Given the description of an element on the screen output the (x, y) to click on. 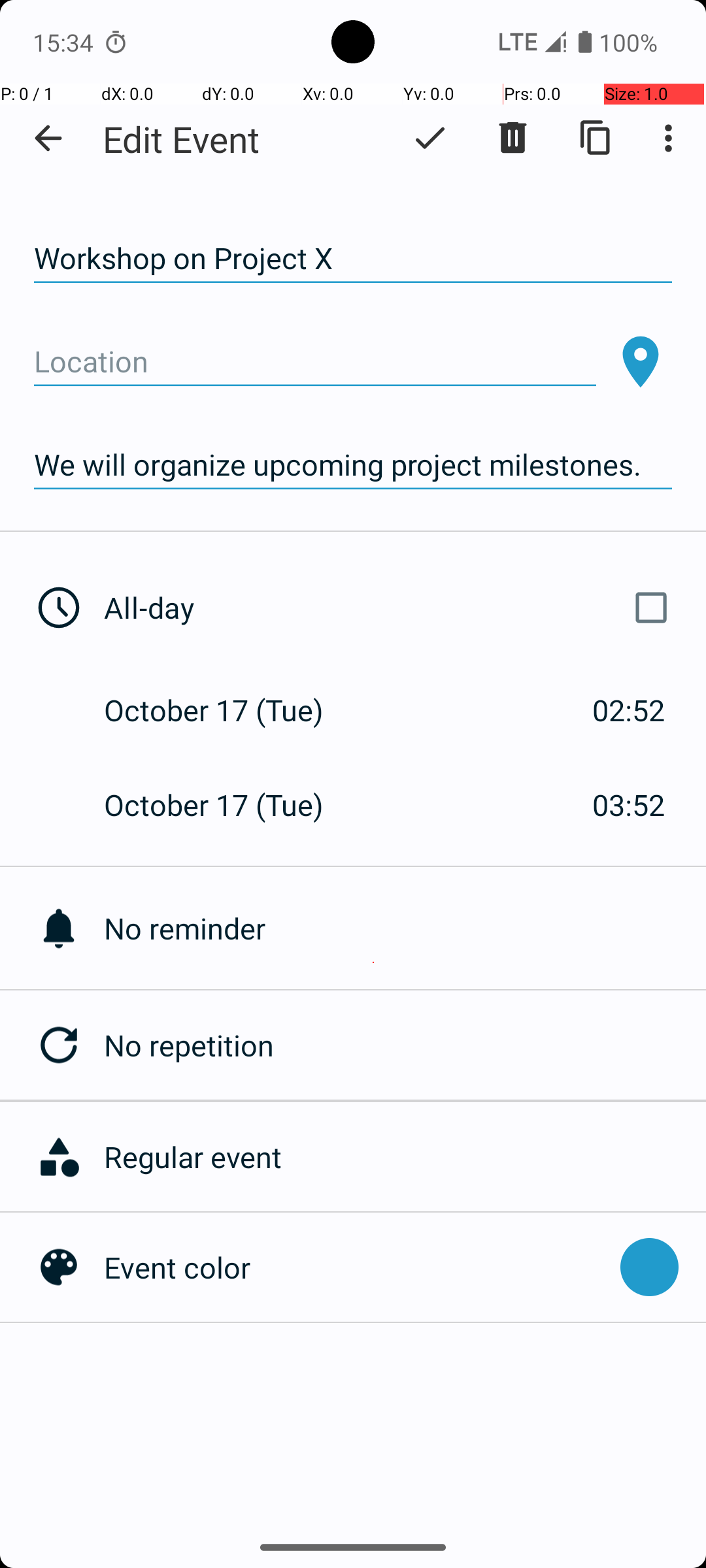
We will organize upcoming project milestones. Element type: android.widget.EditText (352, 465)
October 17 (Tue) Element type: android.widget.TextView (227, 709)
02:52 Element type: android.widget.TextView (628, 709)
03:52 Element type: android.widget.TextView (628, 804)
